Given the description of an element on the screen output the (x, y) to click on. 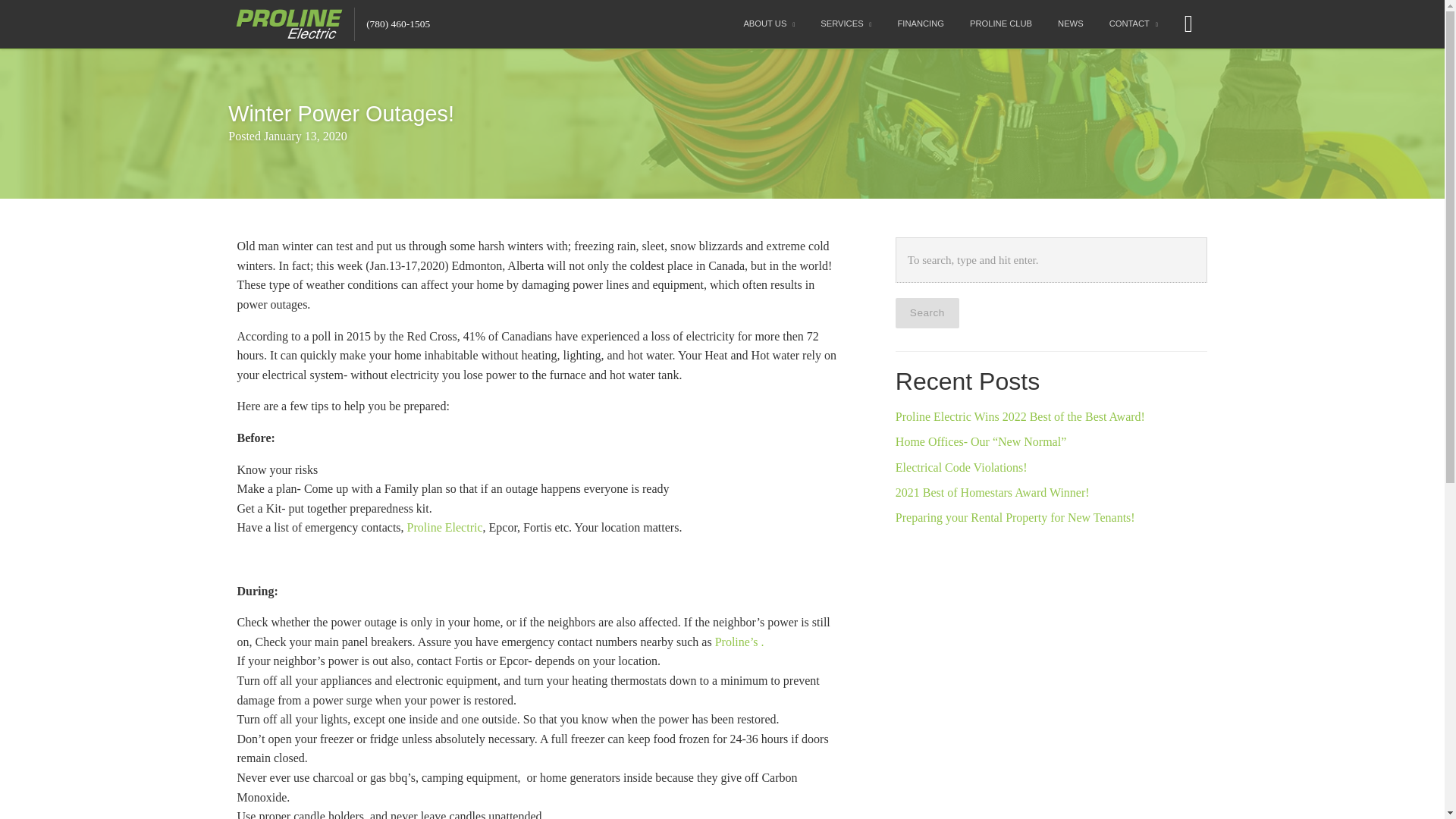
Search (927, 313)
Proline Electric Wins 2022 Best of the Best Award! (1019, 416)
CONTACT (1133, 24)
FINANCING (920, 24)
PROLINE CLUB (1000, 24)
ABOUT US (768, 24)
SERVICES (845, 24)
Proline Electric (445, 526)
